Given the description of an element on the screen output the (x, y) to click on. 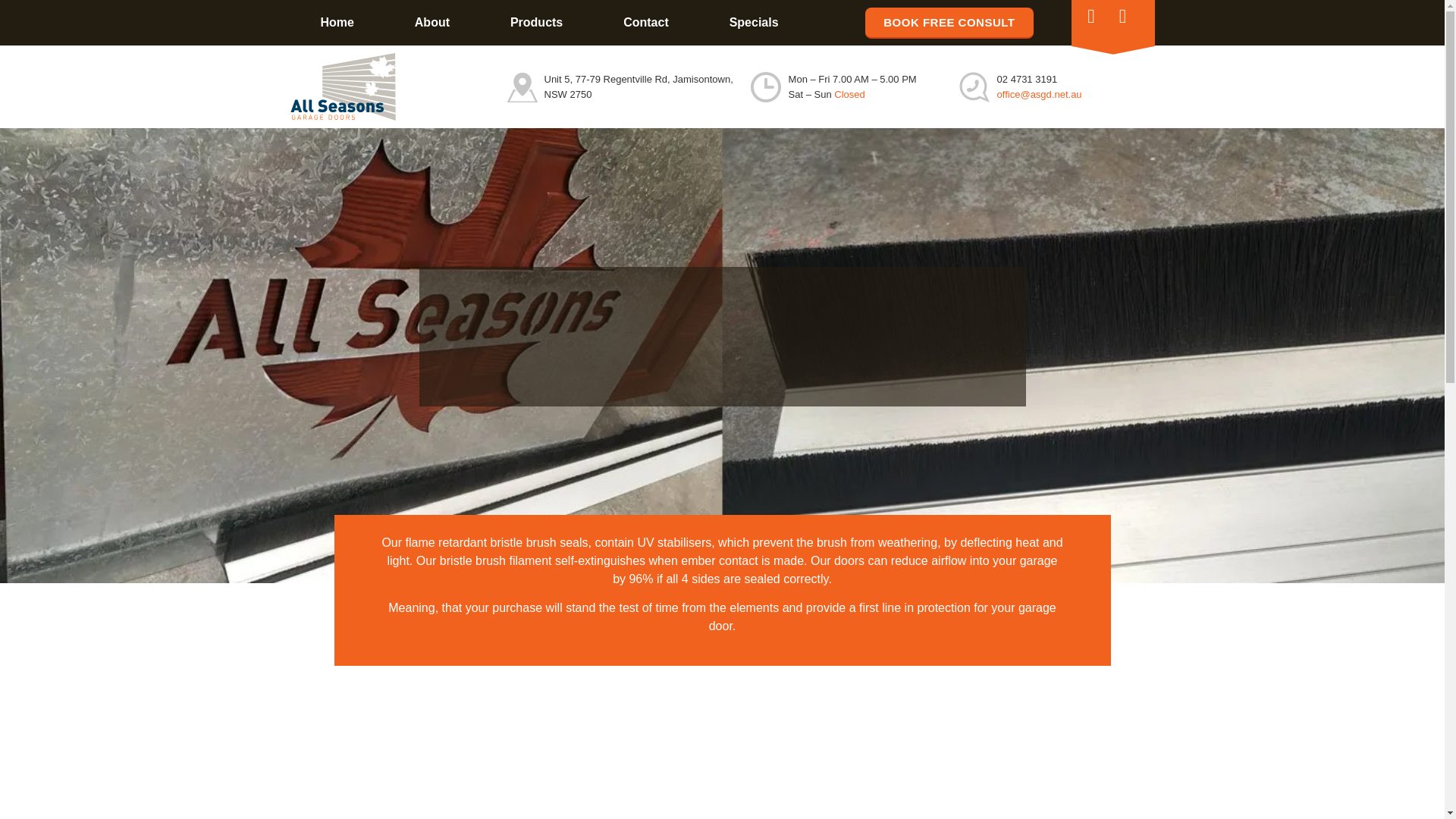
Specials (753, 22)
02 4731 3191 (1027, 79)
Contact (645, 22)
Unit 5, 77-79 Regentville Rd, Jamisontown, NSW 2750 (638, 86)
Products (536, 22)
BOOK FREE CONSULT (948, 22)
About (432, 22)
Home (336, 22)
